Given the description of an element on the screen output the (x, y) to click on. 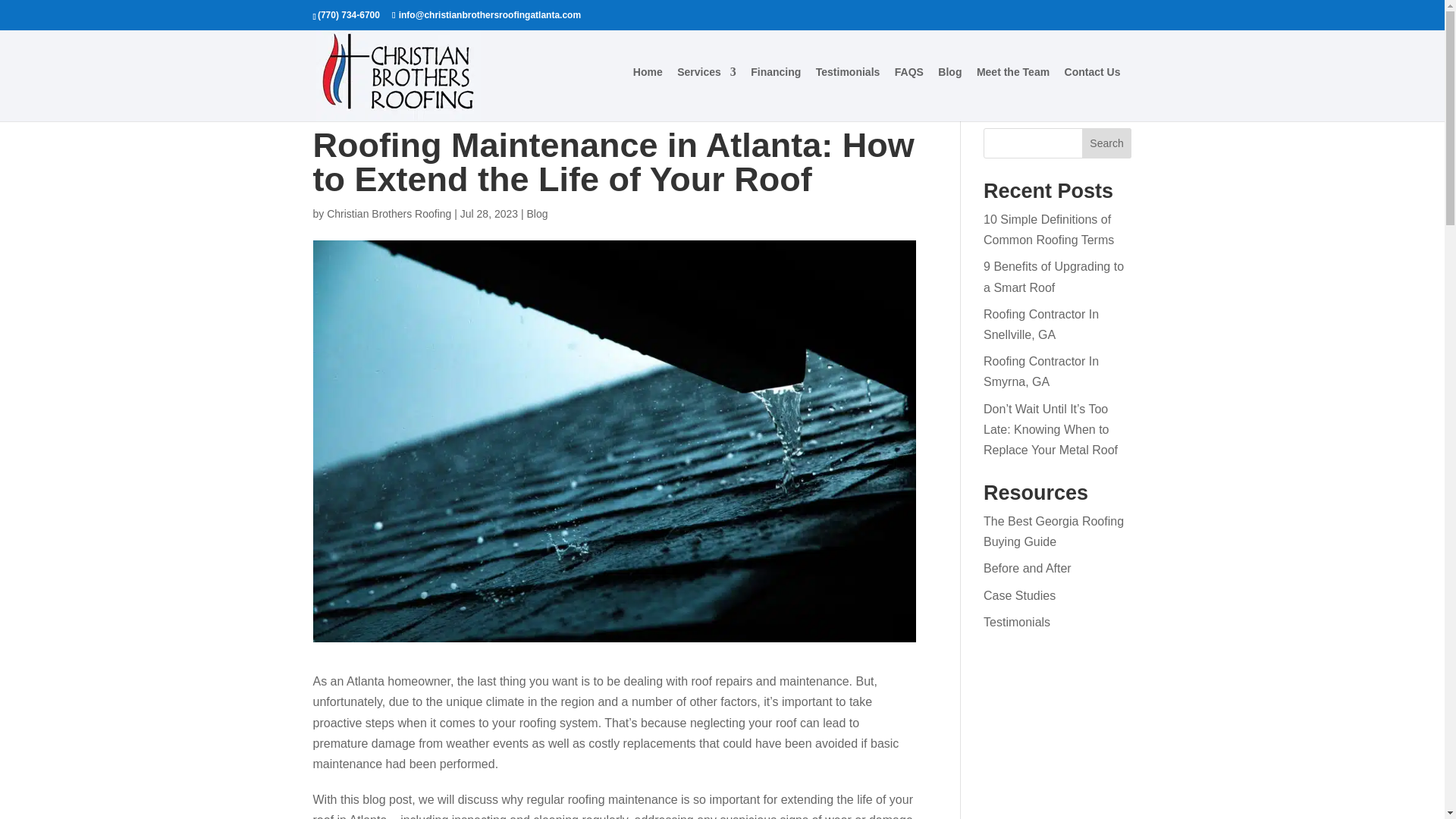
Search (1106, 142)
Posts by Christian Brothers Roofing (388, 214)
Blog (537, 214)
Roofing Contractor In Snellville, GA (1041, 324)
Services (706, 93)
Case Studies (1019, 594)
9 Benefits of Upgrading to a Smart Roof (1054, 276)
Financing (775, 93)
The Best Georgia Roofing Buying Guide (1054, 531)
Search (1106, 142)
Before and After (1027, 567)
10 Simple Definitions of Common Roofing Terms (1048, 229)
Christian Brothers Roofing (388, 214)
Contact Us (1092, 93)
Roofing Contractor In Smyrna, GA (1041, 371)
